Given the description of an element on the screen output the (x, y) to click on. 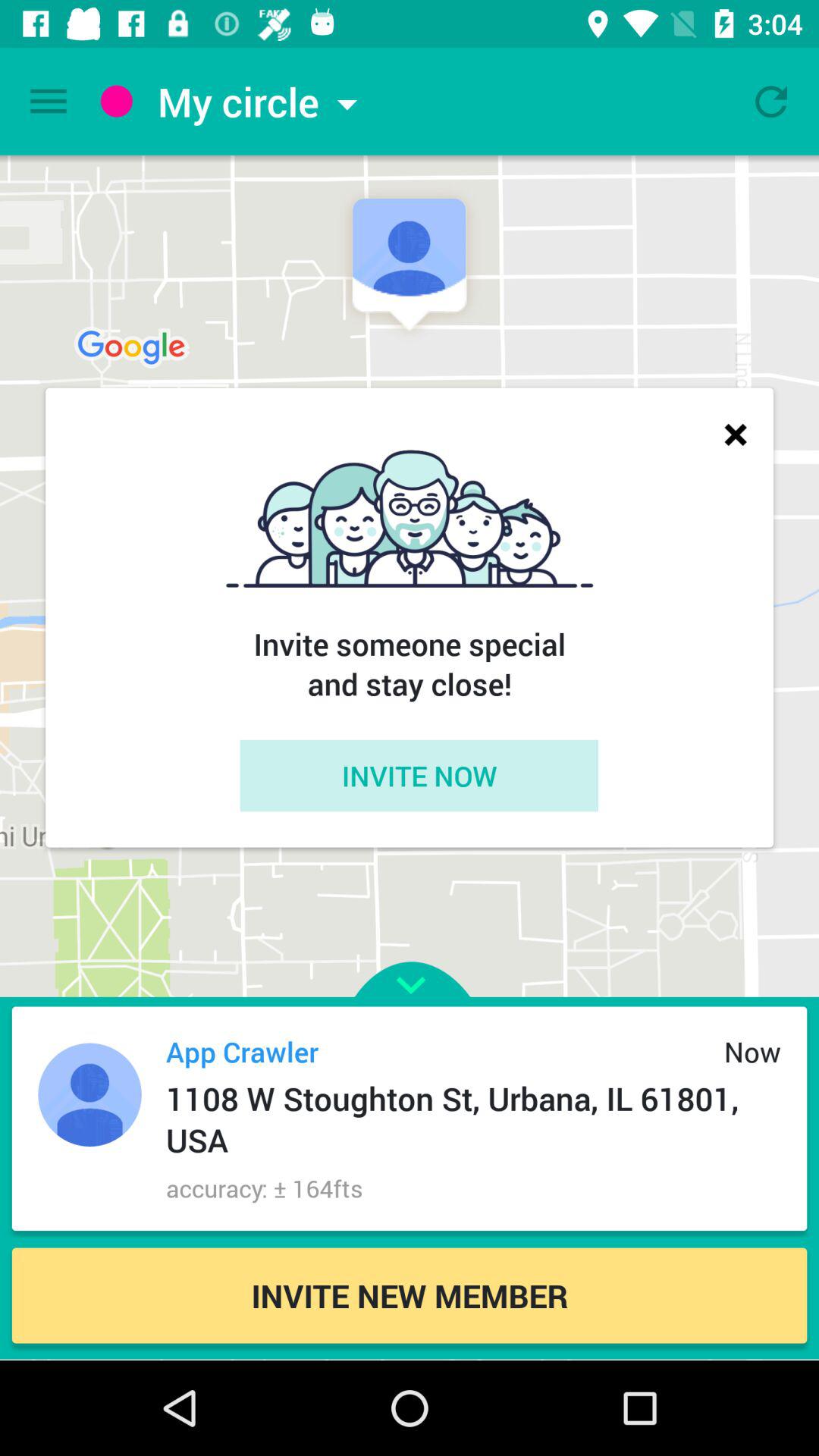
tap the icon above the app crawler item (409, 957)
